Given the description of an element on the screen output the (x, y) to click on. 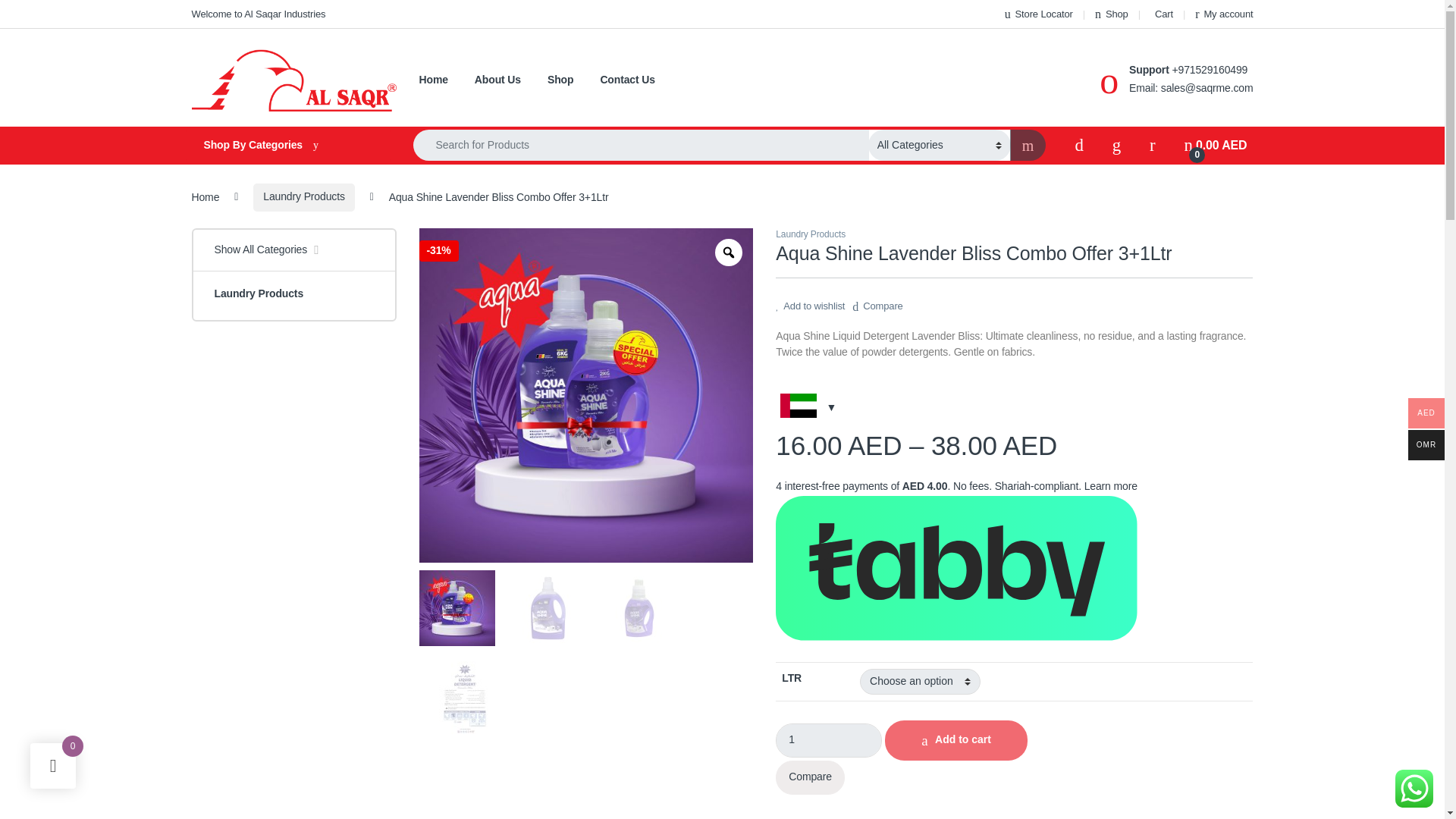
Welcome to Al Saqar Industries (1214, 145)
Store Locator (257, 13)
Shop By Categories (1038, 13)
Contact Us (287, 145)
My account (627, 80)
About Us (1223, 13)
Shop (497, 80)
Store Locator (1111, 13)
Shop (1038, 13)
My account (1111, 13)
About Us (1223, 13)
Welcome to Al Saqar Industries (497, 80)
1 (257, 13)
